Given the description of an element on the screen output the (x, y) to click on. 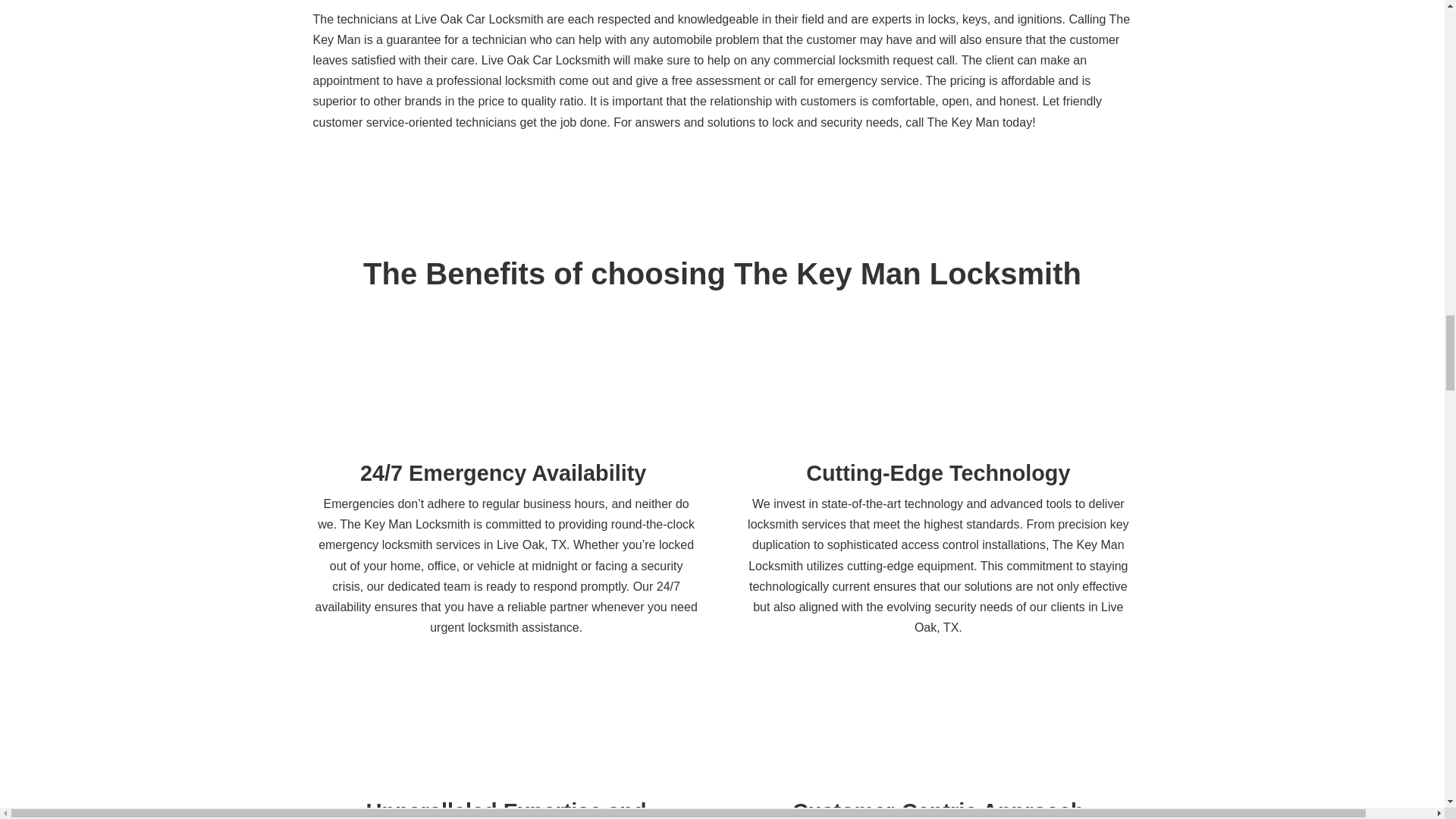
support (506, 432)
access-control (938, 432)
target-audience (938, 771)
technician (506, 771)
